Given the description of an element on the screen output the (x, y) to click on. 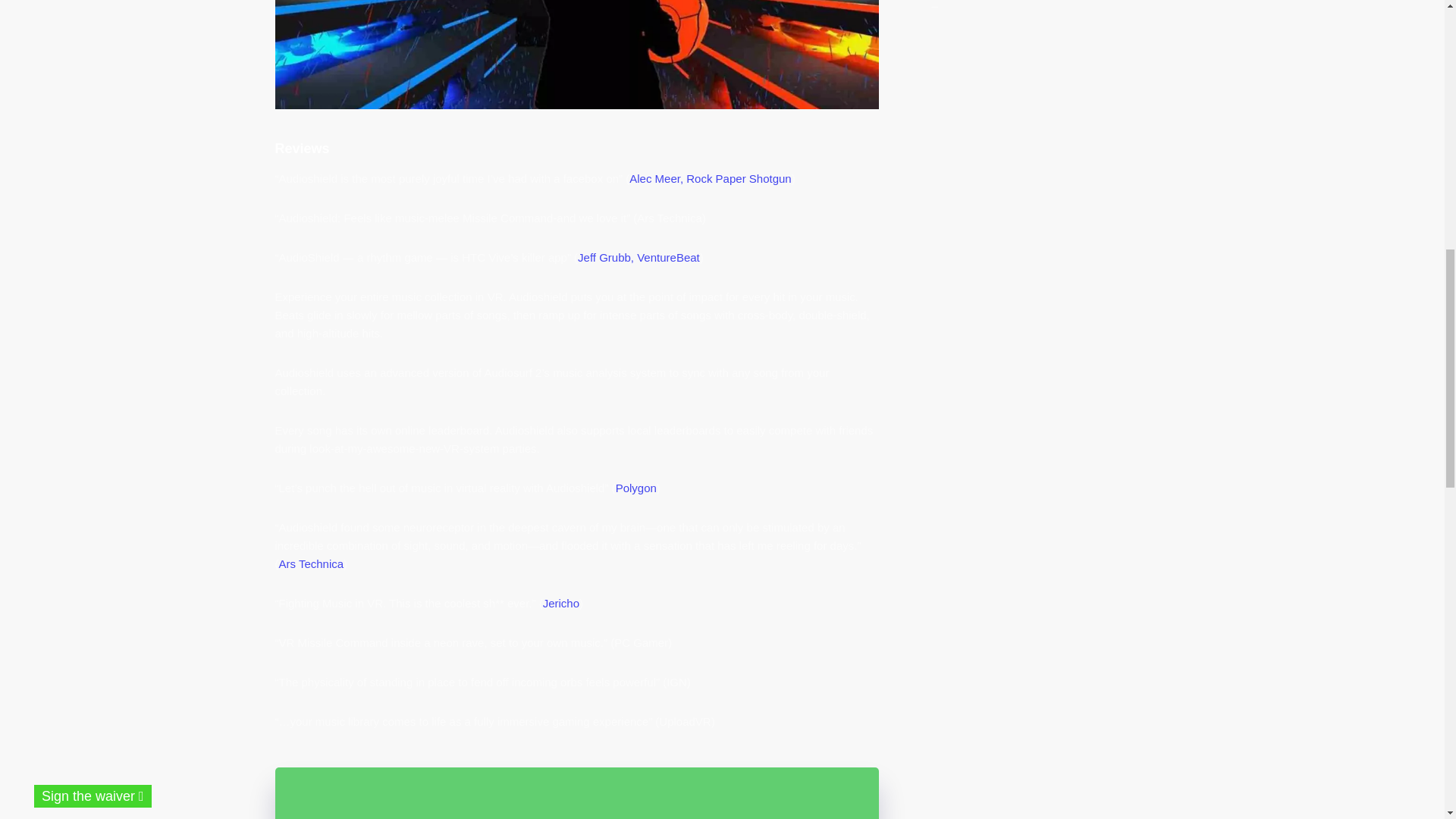
Alec Meer, Rock Paper Shotgun (709, 178)
Polygon (635, 487)
Ars Technica (311, 563)
Jeff Grubb, VentureBeat (639, 256)
Jericho (561, 603)
